Given the description of an element on the screen output the (x, y) to click on. 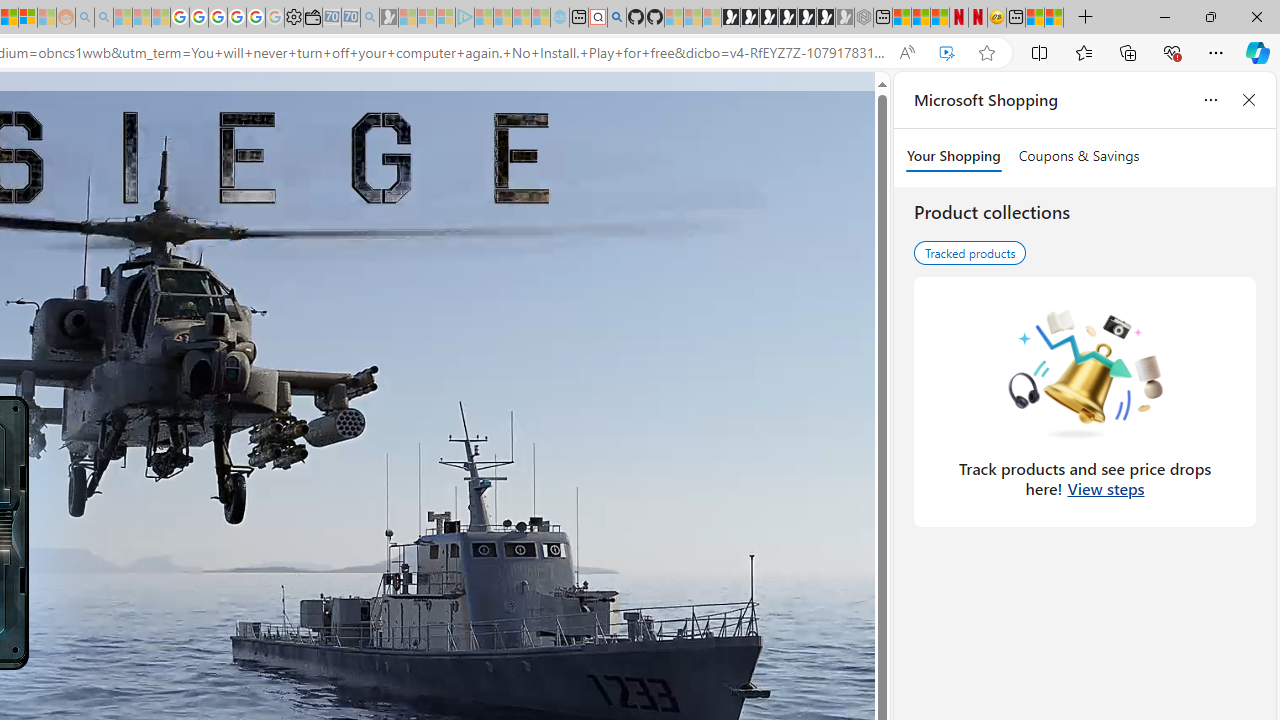
Play Cave FRVR in your browser | Games from Microsoft Start (769, 17)
Wallet (312, 17)
Microsoft Start Gaming - Sleeping (389, 17)
Home | Sky Blue Bikes - Sky Blue Bikes - Sleeping (559, 17)
